Given the description of an element on the screen output the (x, y) to click on. 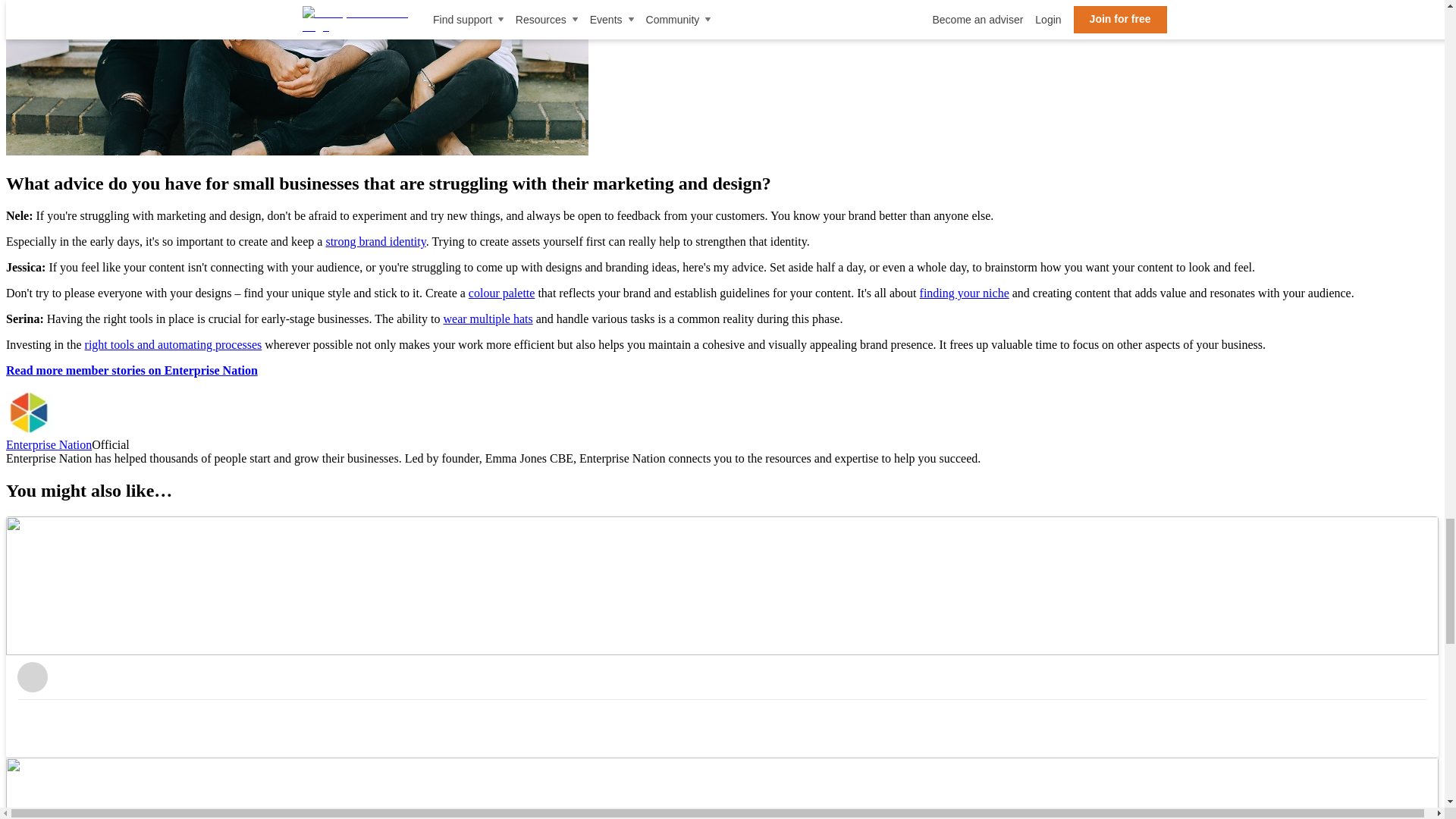
finding your niche (964, 292)
colour palette (501, 292)
right tools and automating processes (173, 344)
Enterprise Nation (48, 444)
wear multiple hats (487, 318)
strong brand identity (374, 241)
Read more member stories on Enterprise Nation (131, 369)
Enterprise Nation (27, 411)
